Given the description of an element on the screen output the (x, y) to click on. 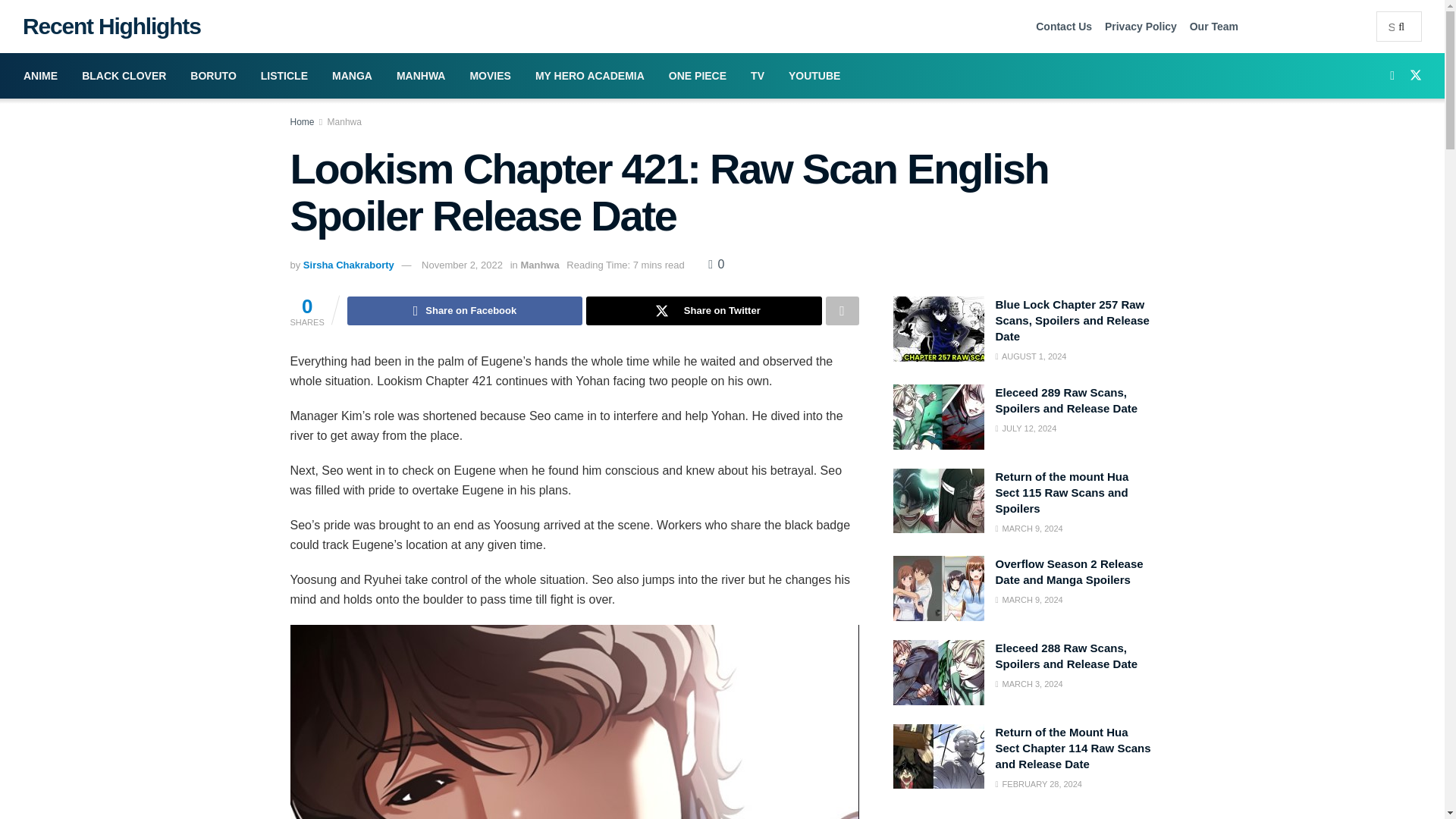
Manhwa (344, 122)
ANIME (40, 75)
MOVIES (489, 75)
BLACK CLOVER (123, 75)
Our Team (1214, 26)
Home (301, 122)
Contact Us (1063, 26)
MANGA (352, 75)
LISTICLE (284, 75)
November 2, 2022 (462, 265)
